Given the description of an element on the screen output the (x, y) to click on. 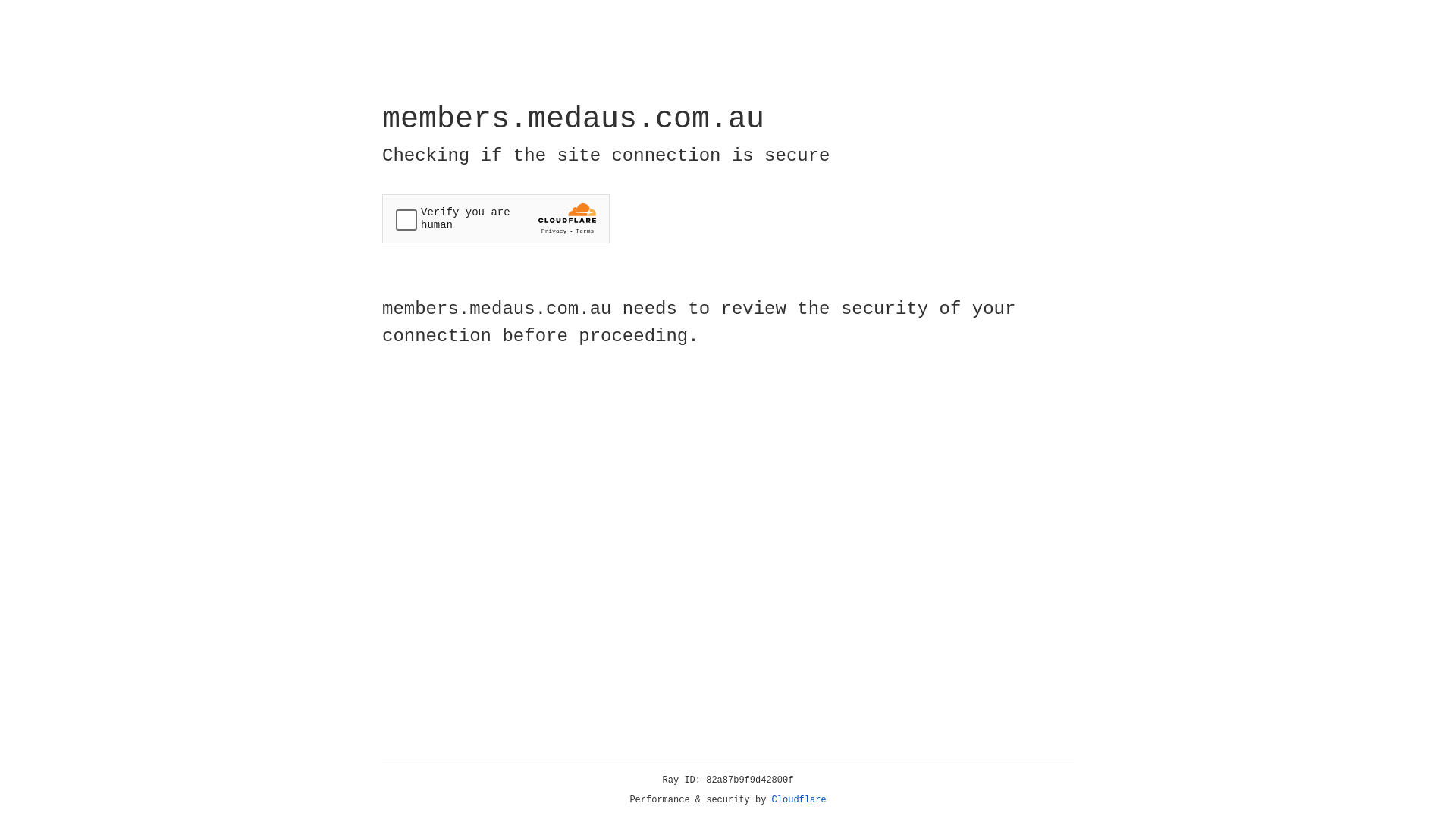
Cloudflare Element type: text (798, 799)
Widget containing a Cloudflare security challenge Element type: hover (495, 218)
